Given the description of an element on the screen output the (x, y) to click on. 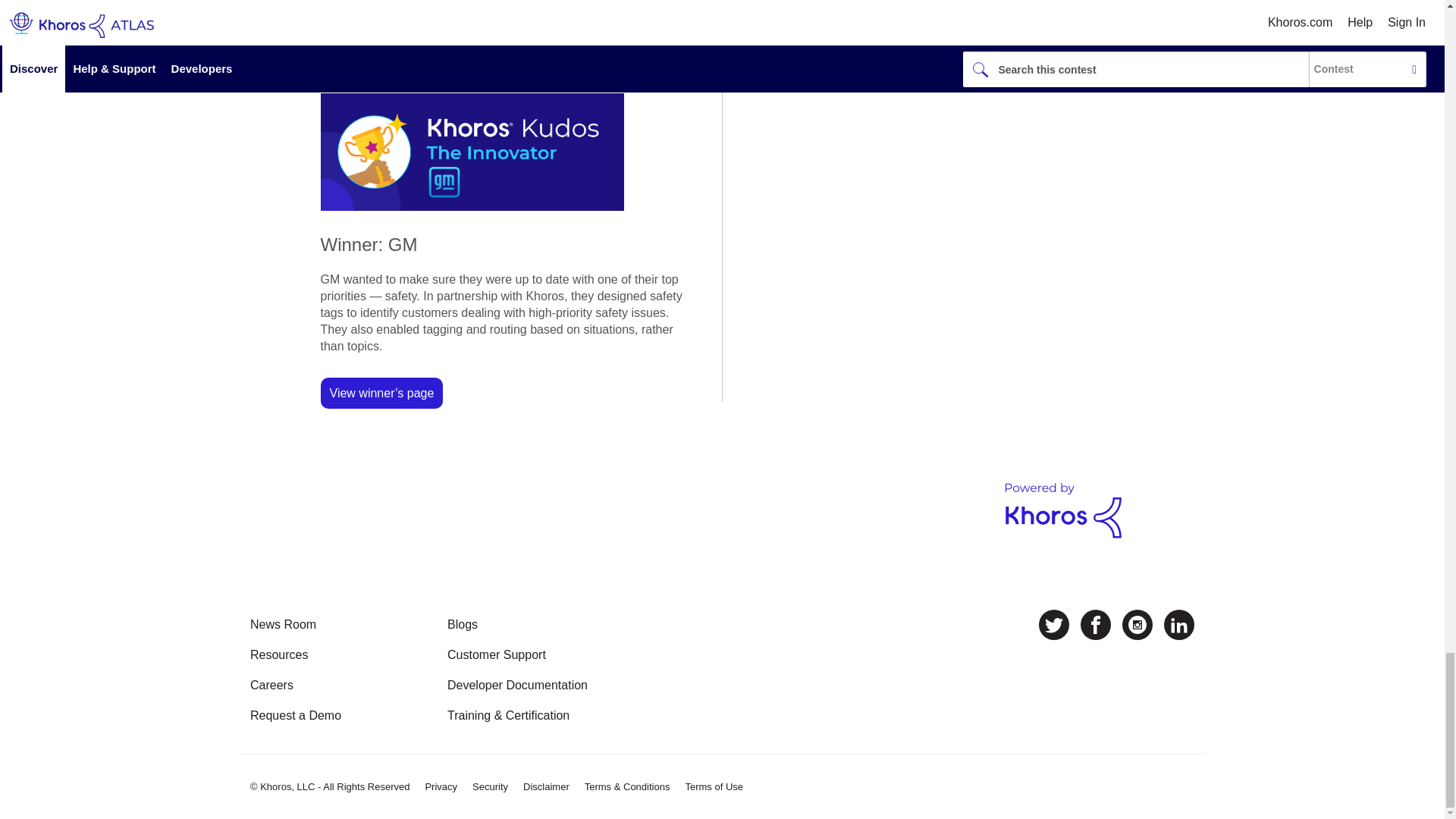
facebook (1095, 624)
twitter (1053, 624)
linkedin (1179, 624)
